Given the description of an element on the screen output the (x, y) to click on. 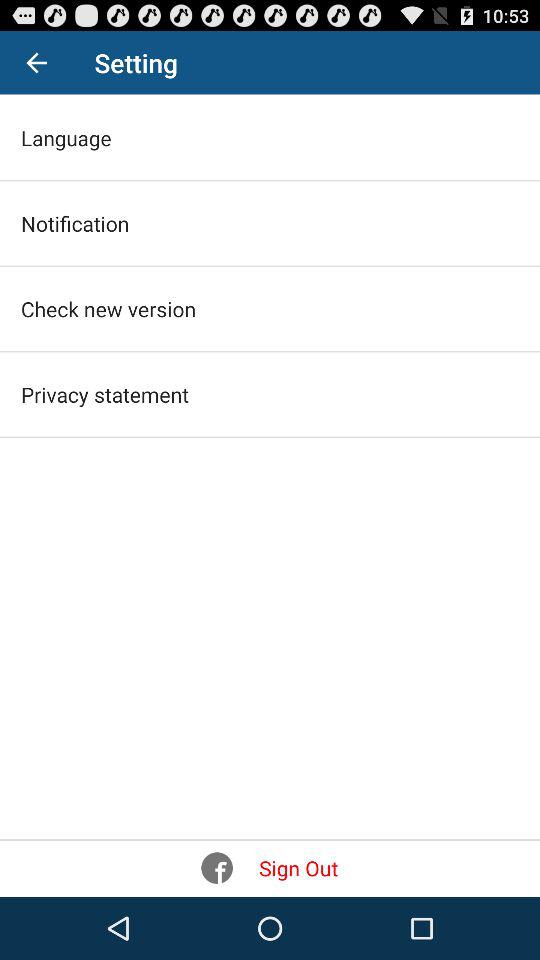
scroll until the notification icon (75, 223)
